Given the description of an element on the screen output the (x, y) to click on. 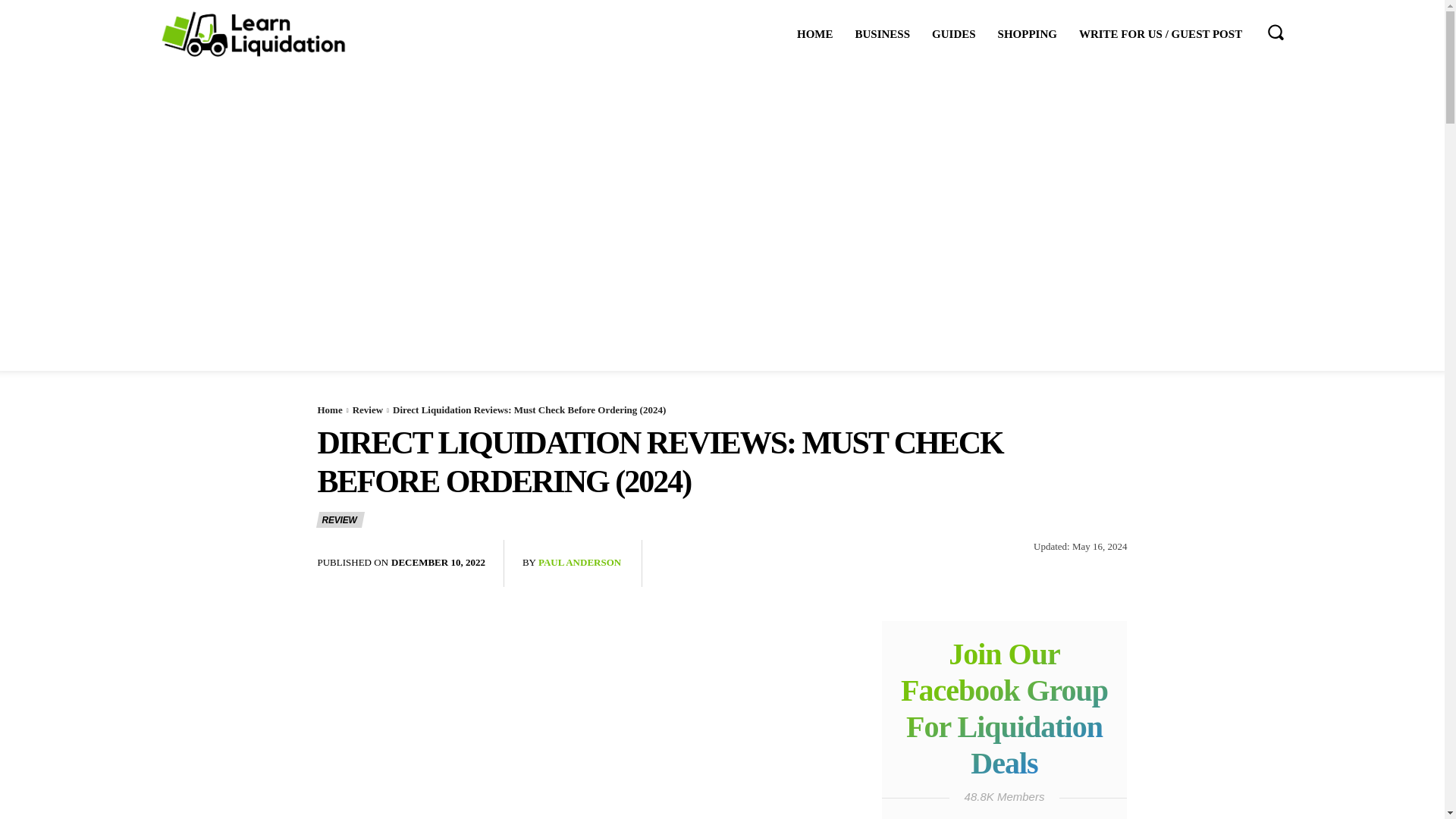
SHOPPING (1026, 33)
HOME (815, 33)
GUIDES (954, 33)
View all posts in Review (367, 409)
Join Our Facebook Group For Liquidation Deals (1003, 712)
Review (367, 409)
PAUL ANDERSON (579, 562)
REVIEW (339, 519)
Home (329, 409)
BUSINESS (882, 33)
